Given the description of an element on the screen output the (x, y) to click on. 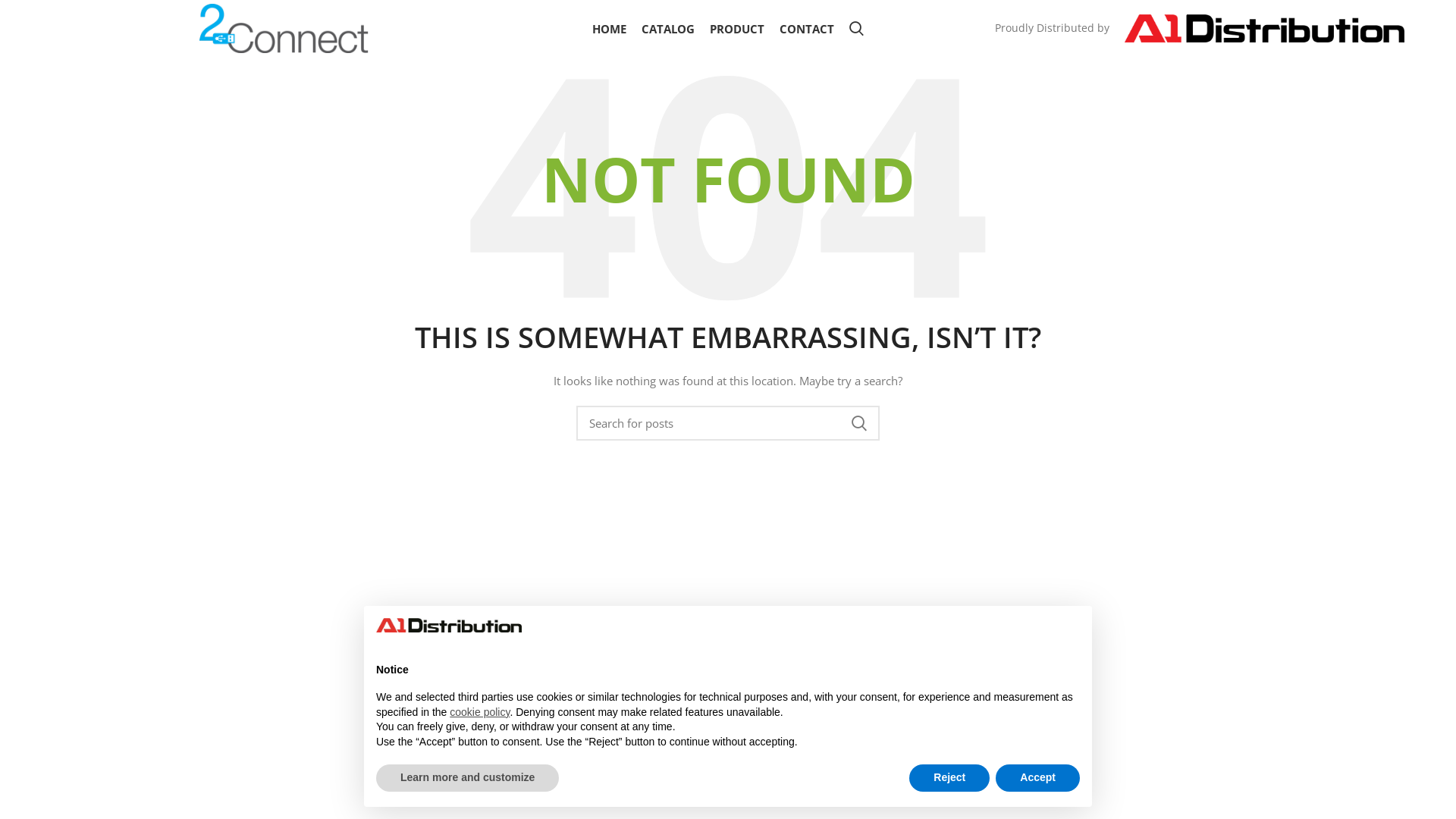
SEARCH Element type: text (859, 422)
CATALOG Element type: text (667, 28)
PRODUCT Element type: text (736, 28)
CONTACT Element type: text (806, 28)
Reject Element type: text (949, 777)
Search Element type: hover (856, 28)
Accept Element type: text (1037, 777)
HOME Element type: text (608, 28)
Search for posts Element type: hover (727, 422)
Learn more and customize Element type: text (467, 777)
cookie policy Element type: text (479, 712)
